Given the description of an element on the screen output the (x, y) to click on. 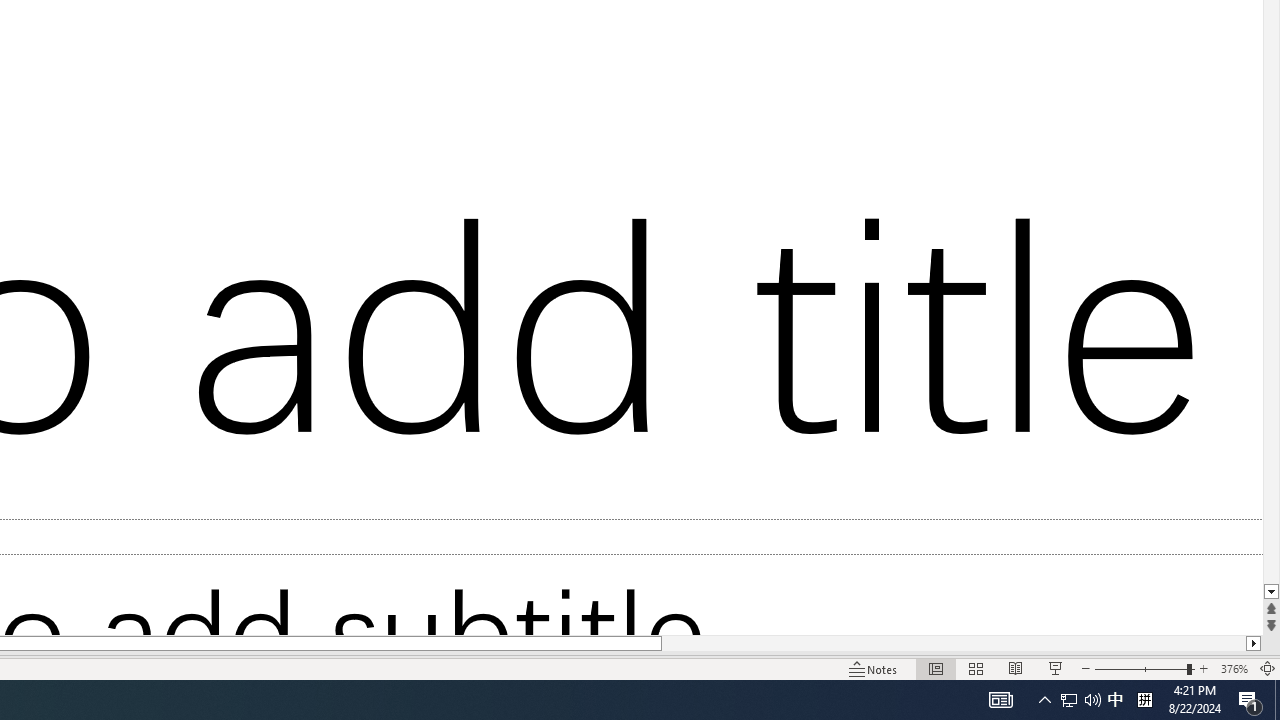
Zoom 376% (1234, 668)
